Given the description of an element on the screen output the (x, y) to click on. 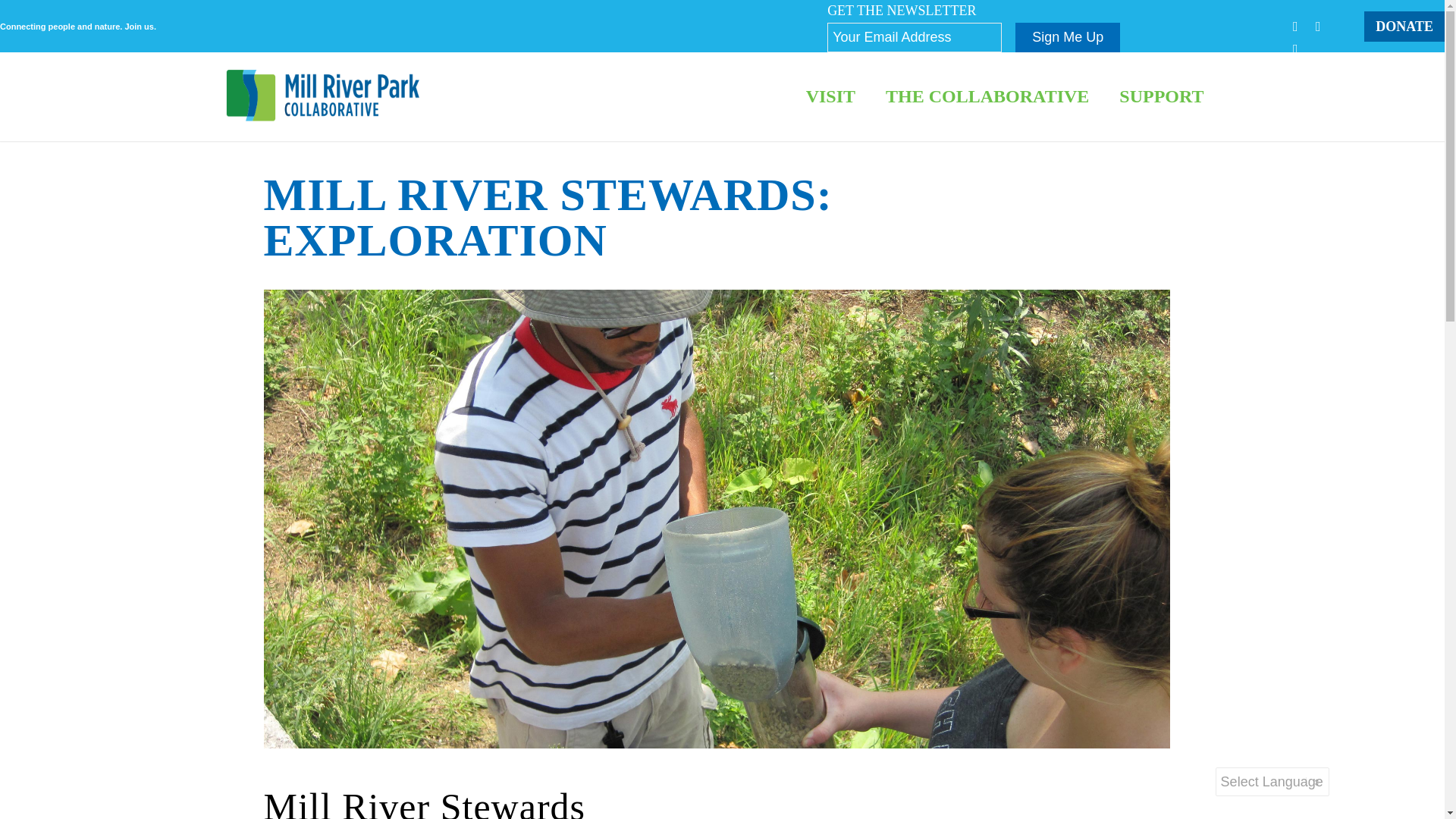
Connecting people and nature. Join us. (77, 26)
Facebook (1295, 26)
mill-river-logo (322, 95)
Sign Me Up (1066, 37)
Sign Me Up (1066, 37)
VISIT (830, 95)
Twitter (1317, 26)
Instagram (1295, 48)
